Given the description of an element on the screen output the (x, y) to click on. 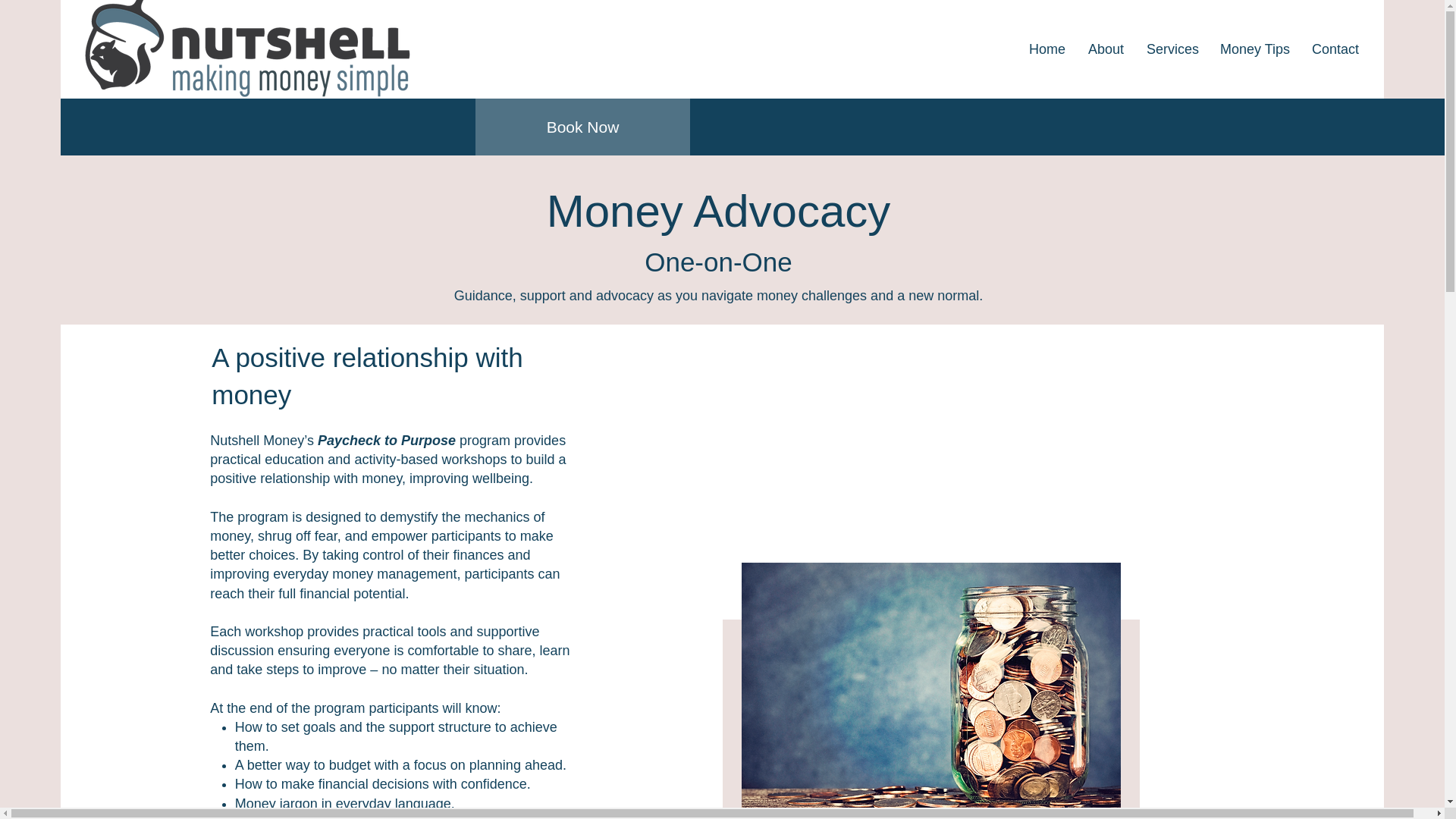
Home (1047, 48)
About (1106, 48)
Book Now (583, 126)
Money Tips (1254, 48)
Contact (1334, 48)
